Given the description of an element on the screen output the (x, y) to click on. 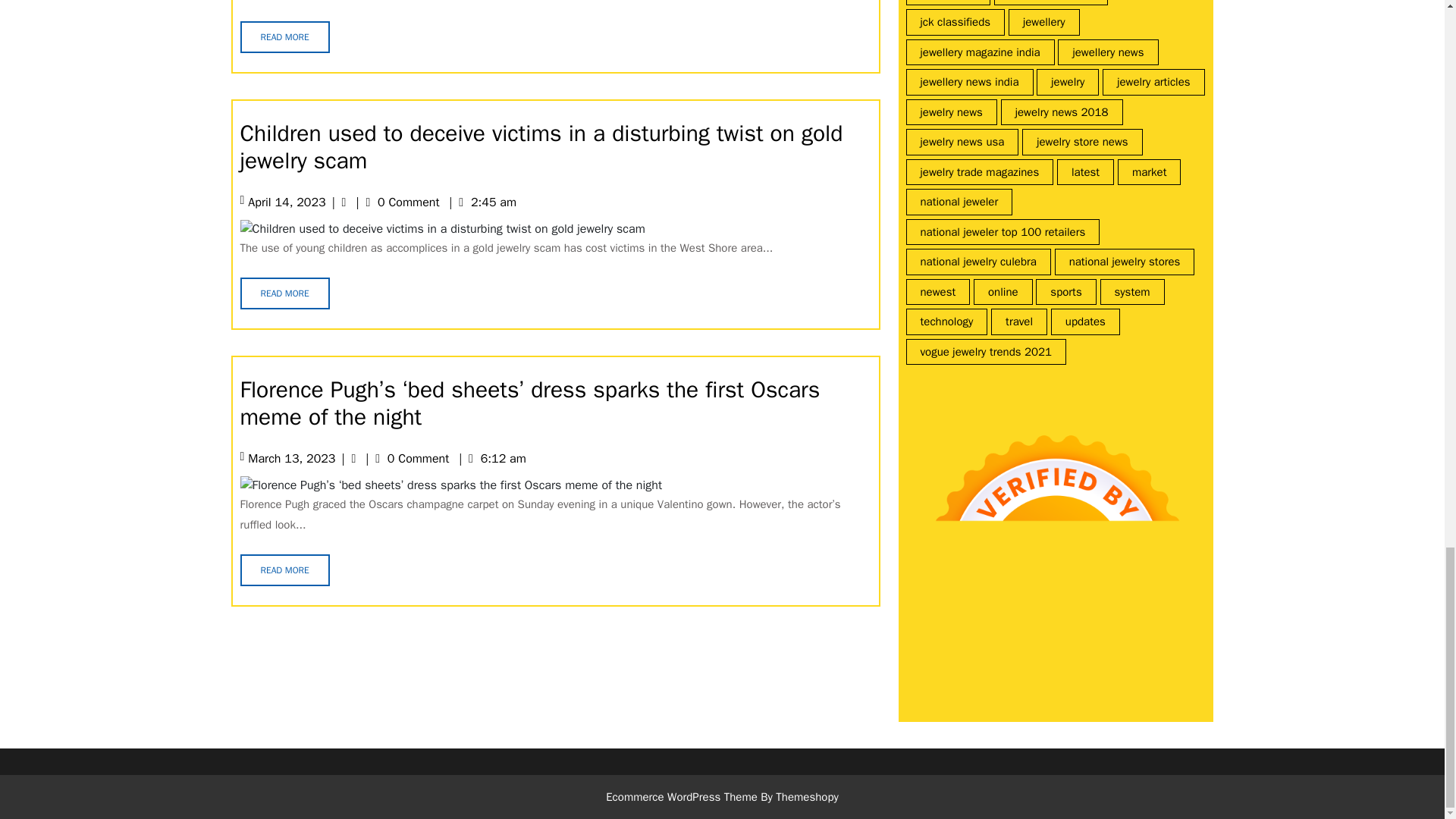
READ MORE (284, 293)
March 13, 2023 (290, 458)
READ MORE (284, 37)
READ MORE (284, 570)
April 14, 2023 (285, 201)
Read More (284, 37)
